Given the description of an element on the screen output the (x, y) to click on. 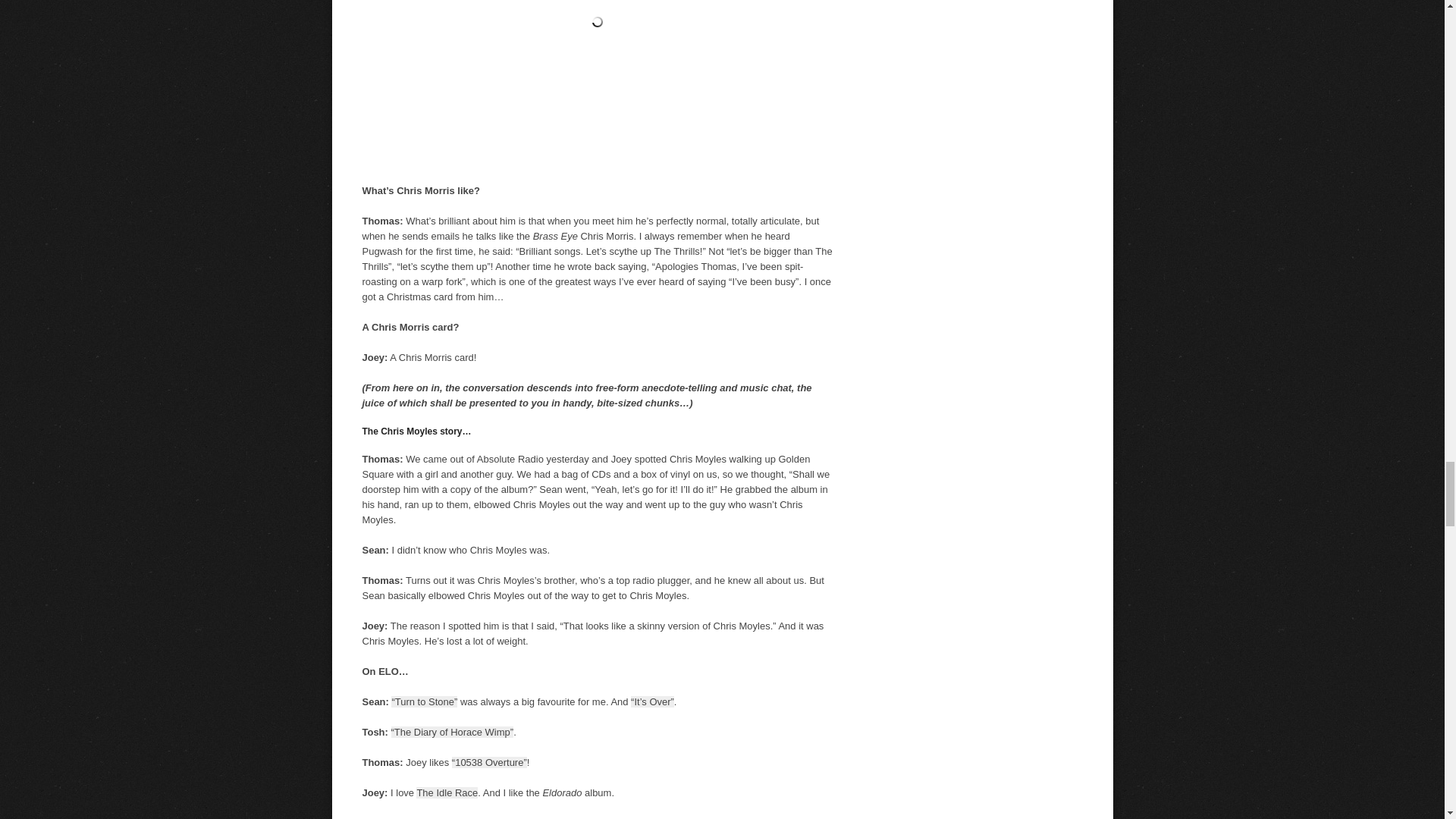
The Idle Race (446, 792)
